Given the description of an element on the screen output the (x, y) to click on. 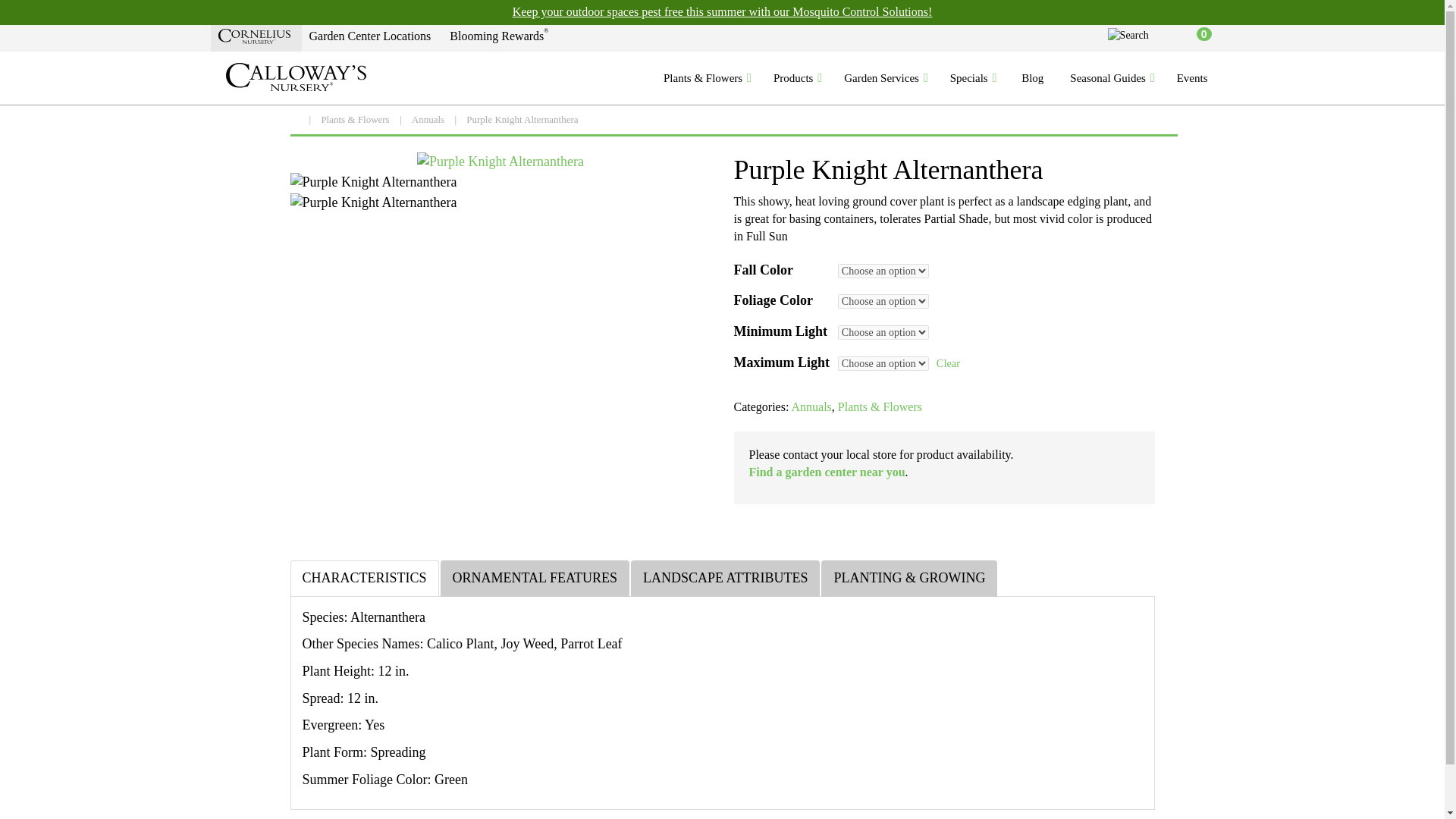
Calloway's Logo (295, 76)
Seasonal Guides (1111, 77)
Events (1194, 77)
Specials (973, 77)
View your shopping cart (1197, 38)
Garden Center Locations (371, 38)
0 (1197, 38)
Cornelius Logo (253, 36)
 Blog (1032, 77)
Garden Services (884, 77)
Calloway's Logo (293, 77)
Cornelius Logo (256, 38)
